Given the description of an element on the screen output the (x, y) to click on. 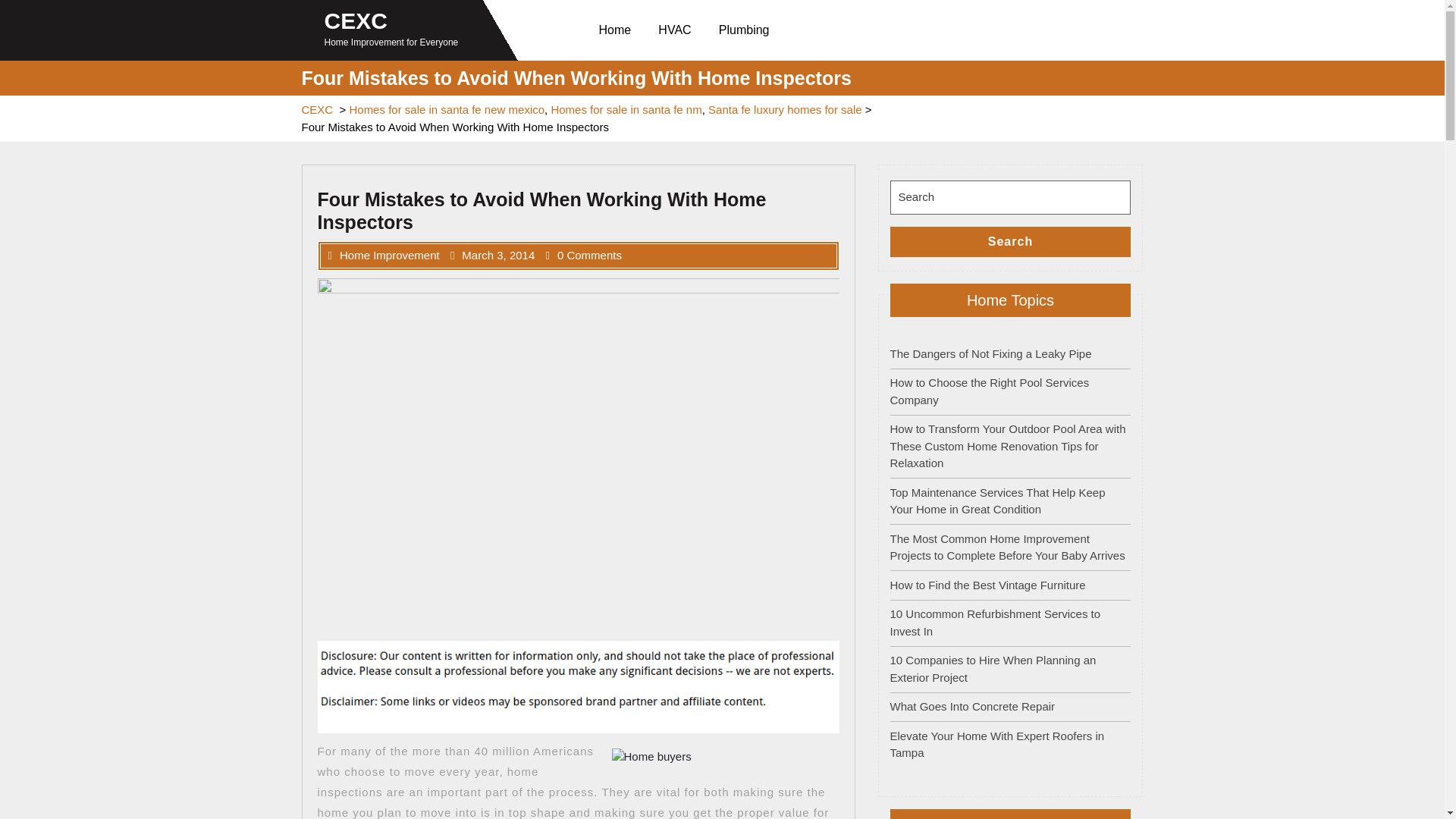
How to Choose the Right Pool Services Company (989, 390)
Elevate Your Home With Expert Roofers in Tampa (997, 744)
Homes for sale in santa fe nm (625, 109)
CEXC (355, 20)
How to Find the Best Vintage Furniture (987, 584)
Santa fe luxury homes for sale (784, 109)
Plumbing (747, 29)
Search (1010, 241)
The Dangers of Not Fixing a Leaky Pipe (990, 353)
Home (617, 29)
Homes for sale in santa fe new mexico (446, 109)
CEXC (317, 109)
